Given the description of an element on the screen output the (x, y) to click on. 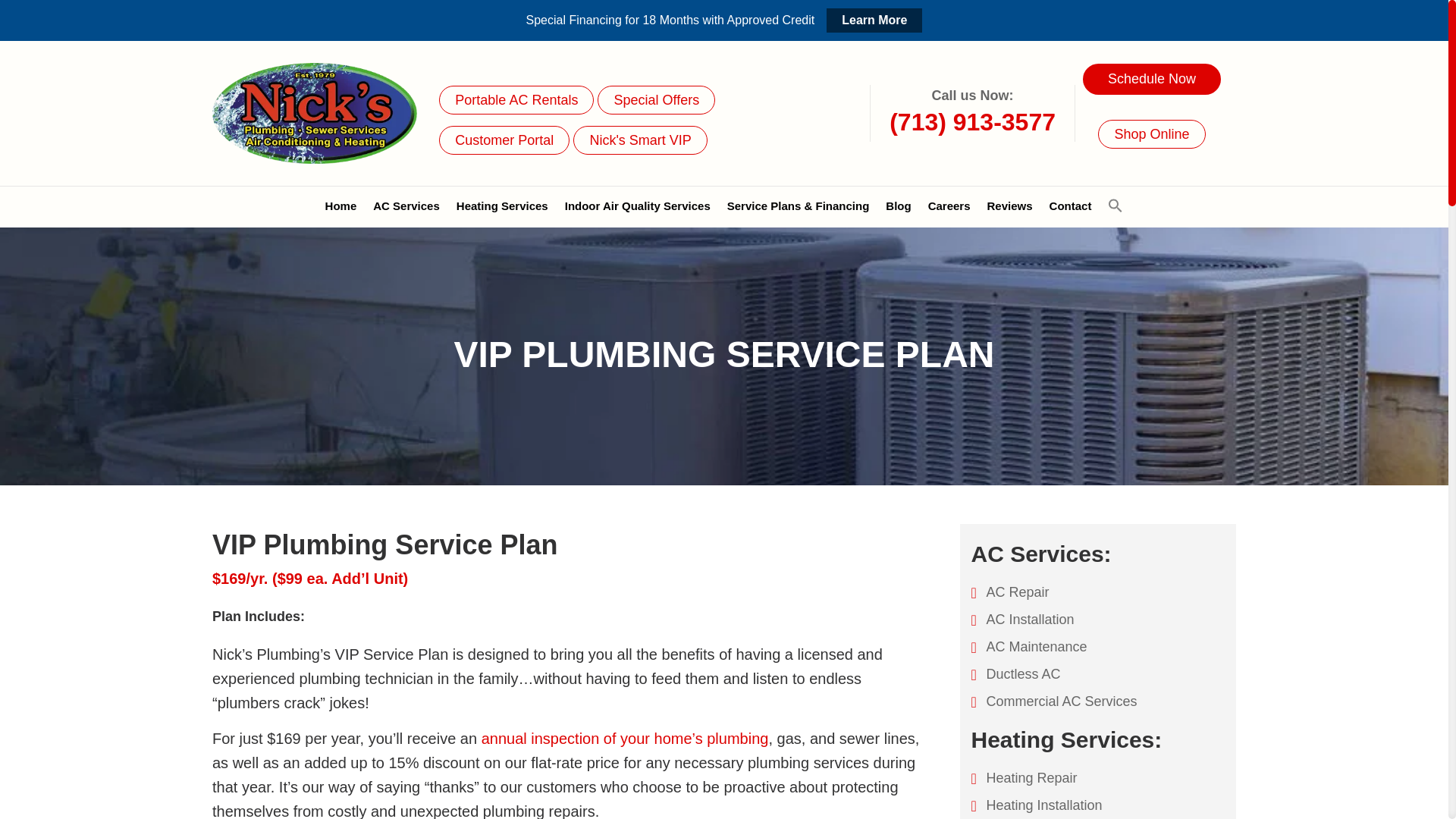
Schedule Now (1152, 79)
nicks (288, 113)
Indoor Air Quality Services (637, 207)
Portable AC Rentals (516, 99)
Shop Online (1151, 133)
Special Offers (655, 99)
AC Services (405, 207)
Learn More (874, 20)
Customer Portal (504, 140)
Heating Services (502, 207)
